Given the description of an element on the screen output the (x, y) to click on. 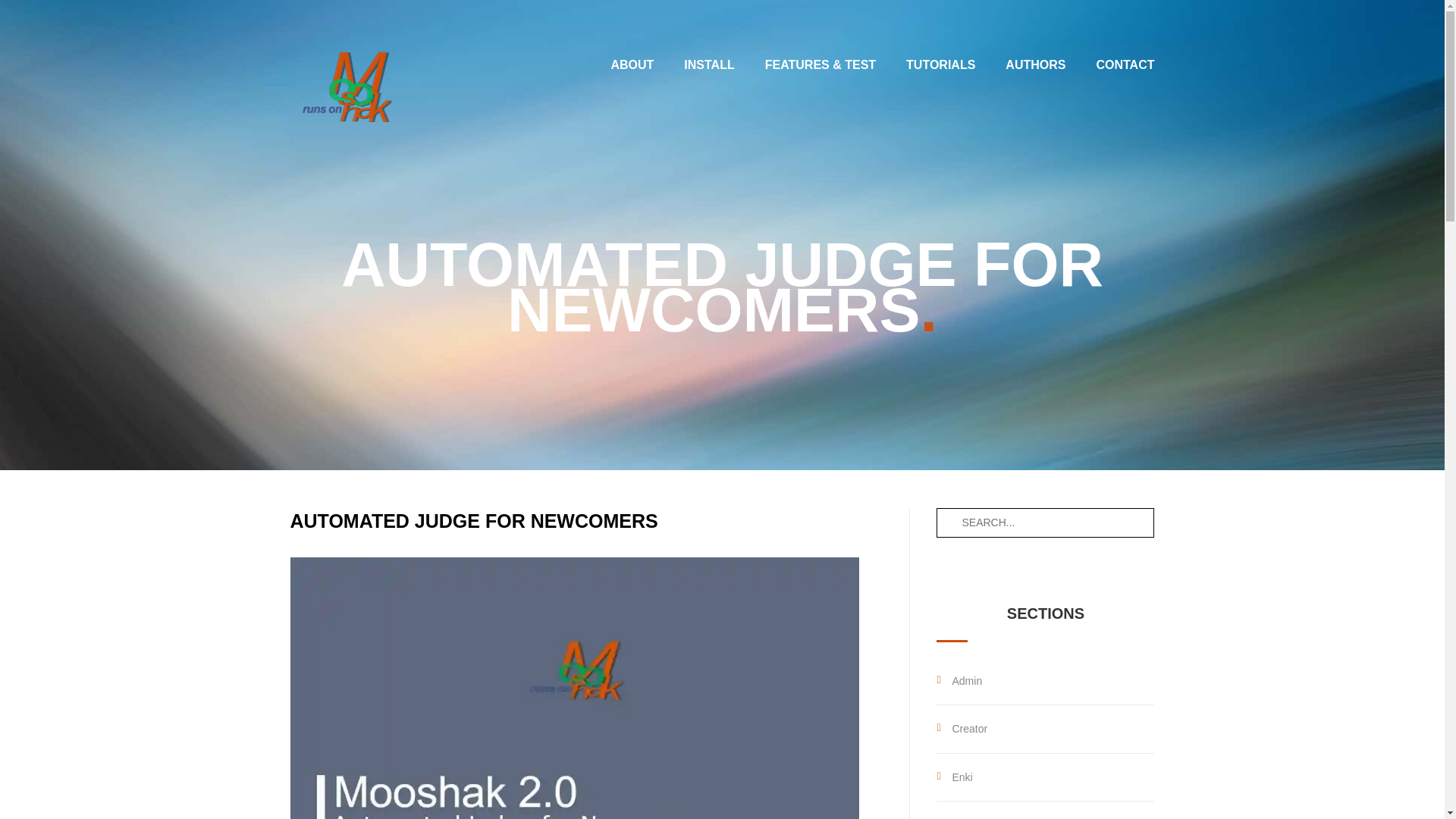
Enki (962, 776)
Creator (969, 728)
CONTACT (1125, 64)
Search for: (1027, 522)
Admin (966, 680)
INSTALL (708, 64)
ABOUT (631, 64)
TUTORIALS (940, 64)
AUTHORS (1035, 64)
